Given the description of an element on the screen output the (x, y) to click on. 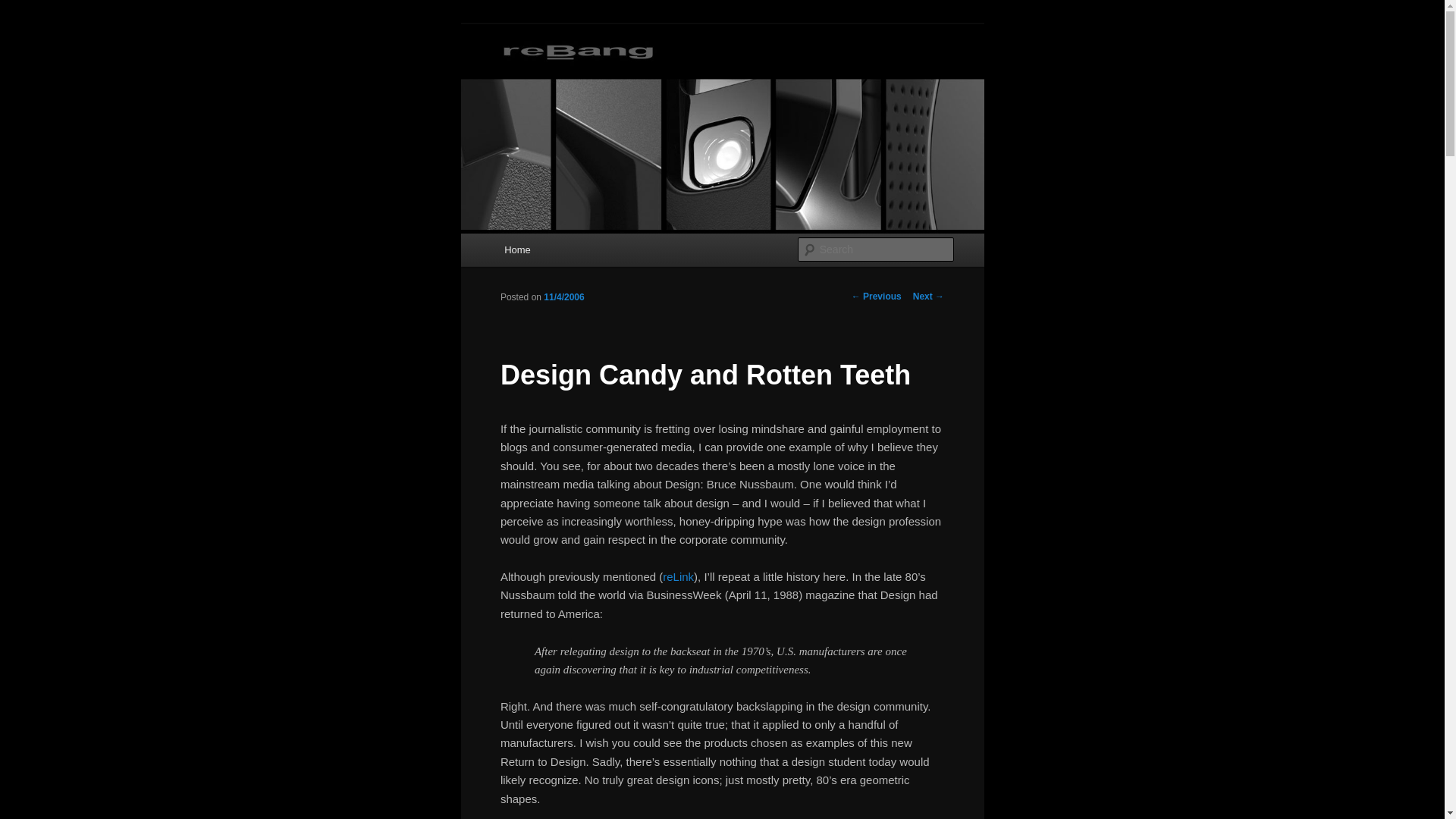
Search (24, 8)
Home (516, 249)
reLink (678, 576)
4:30 pm (563, 296)
reBang (539, 78)
